Given the description of an element on the screen output the (x, y) to click on. 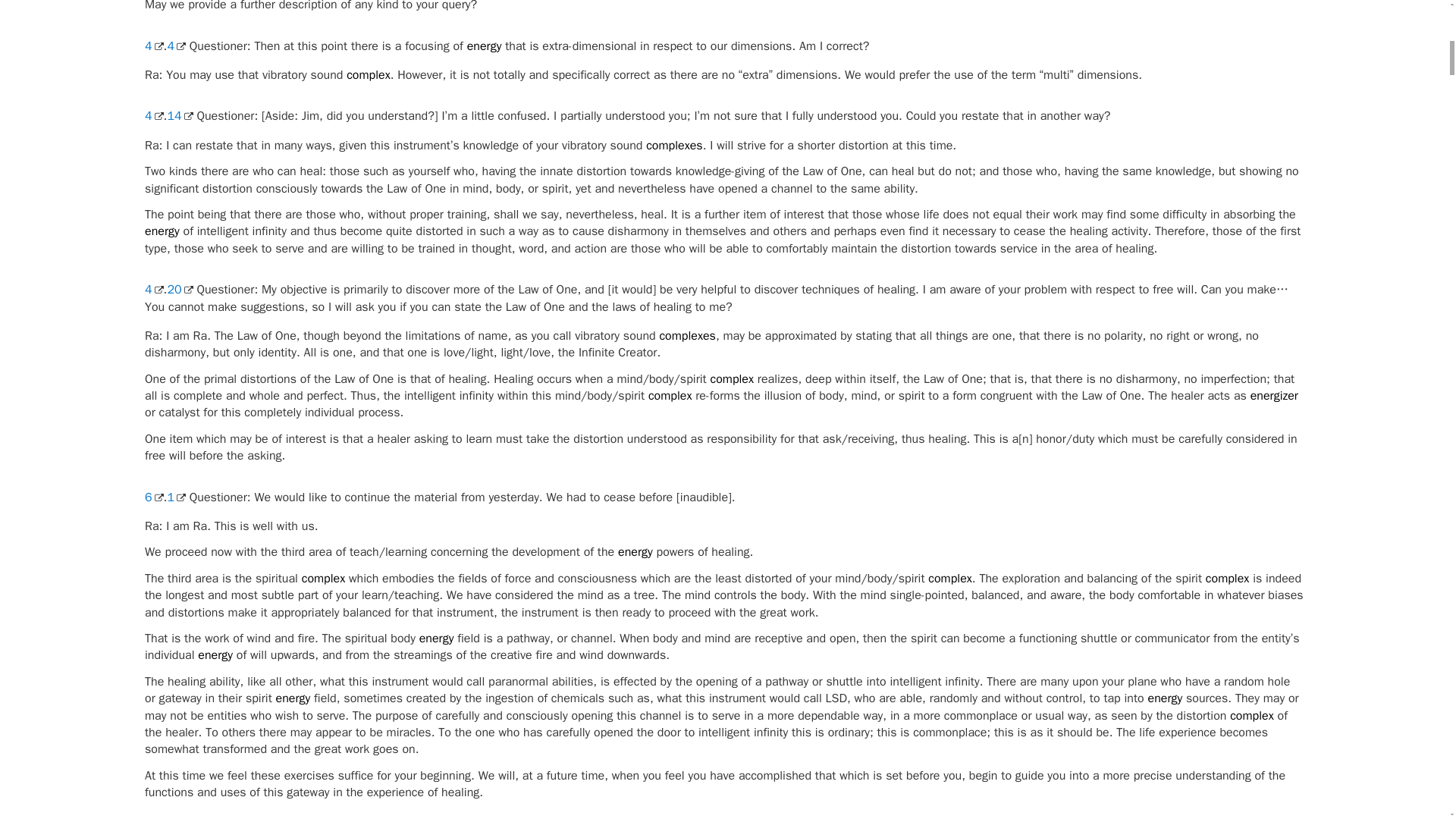
14 (179, 115)
6 (153, 497)
4 (153, 46)
1 (176, 497)
20 (179, 289)
4 (153, 289)
4 (153, 115)
4 (176, 46)
